Given the description of an element on the screen output the (x, y) to click on. 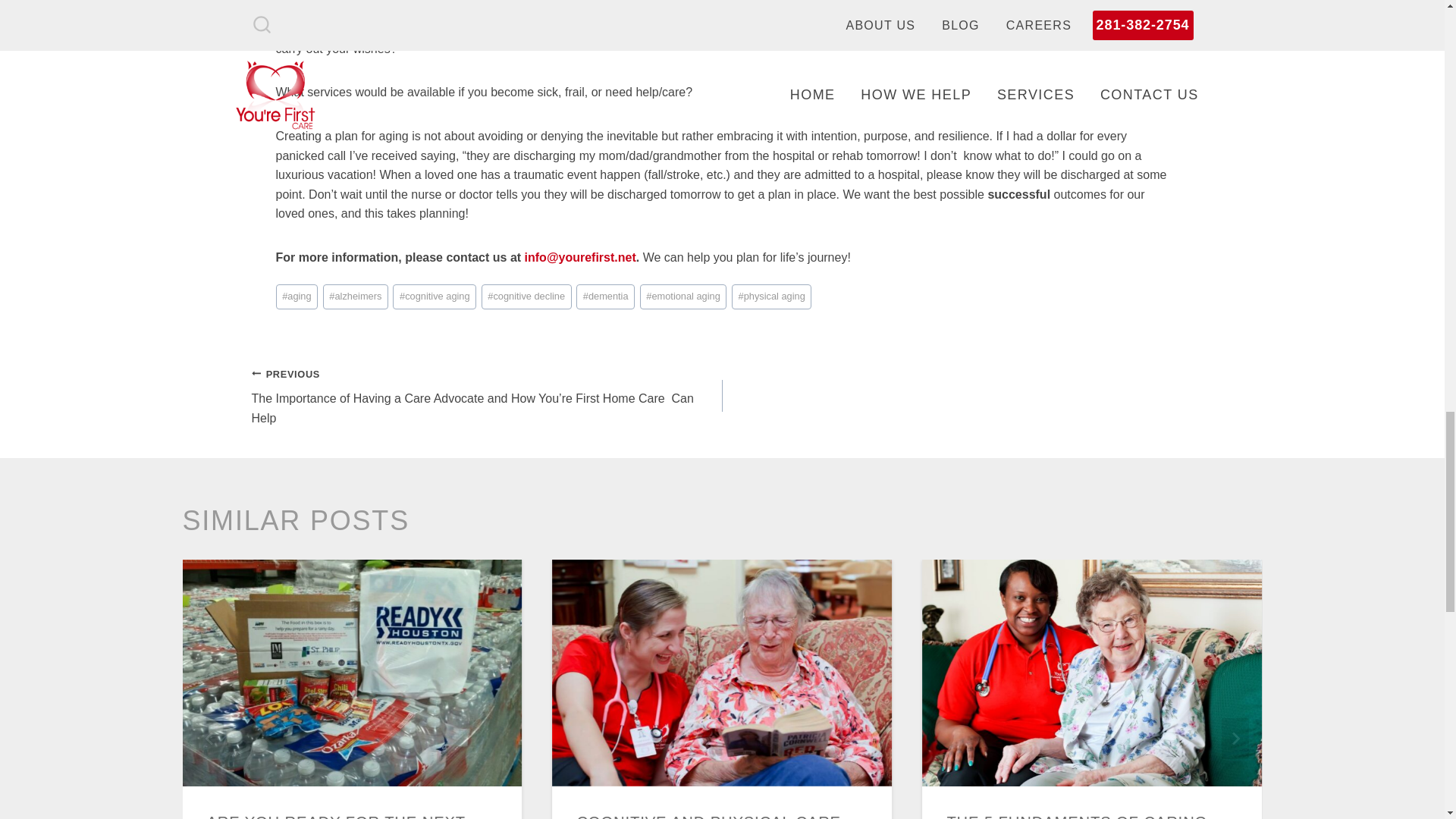
emotional aging (683, 296)
dementia (605, 296)
cognitive aging (434, 296)
alzheimers (355, 296)
physical aging (772, 296)
aging (297, 296)
cognitive decline (526, 296)
